Given the description of an element on the screen output the (x, y) to click on. 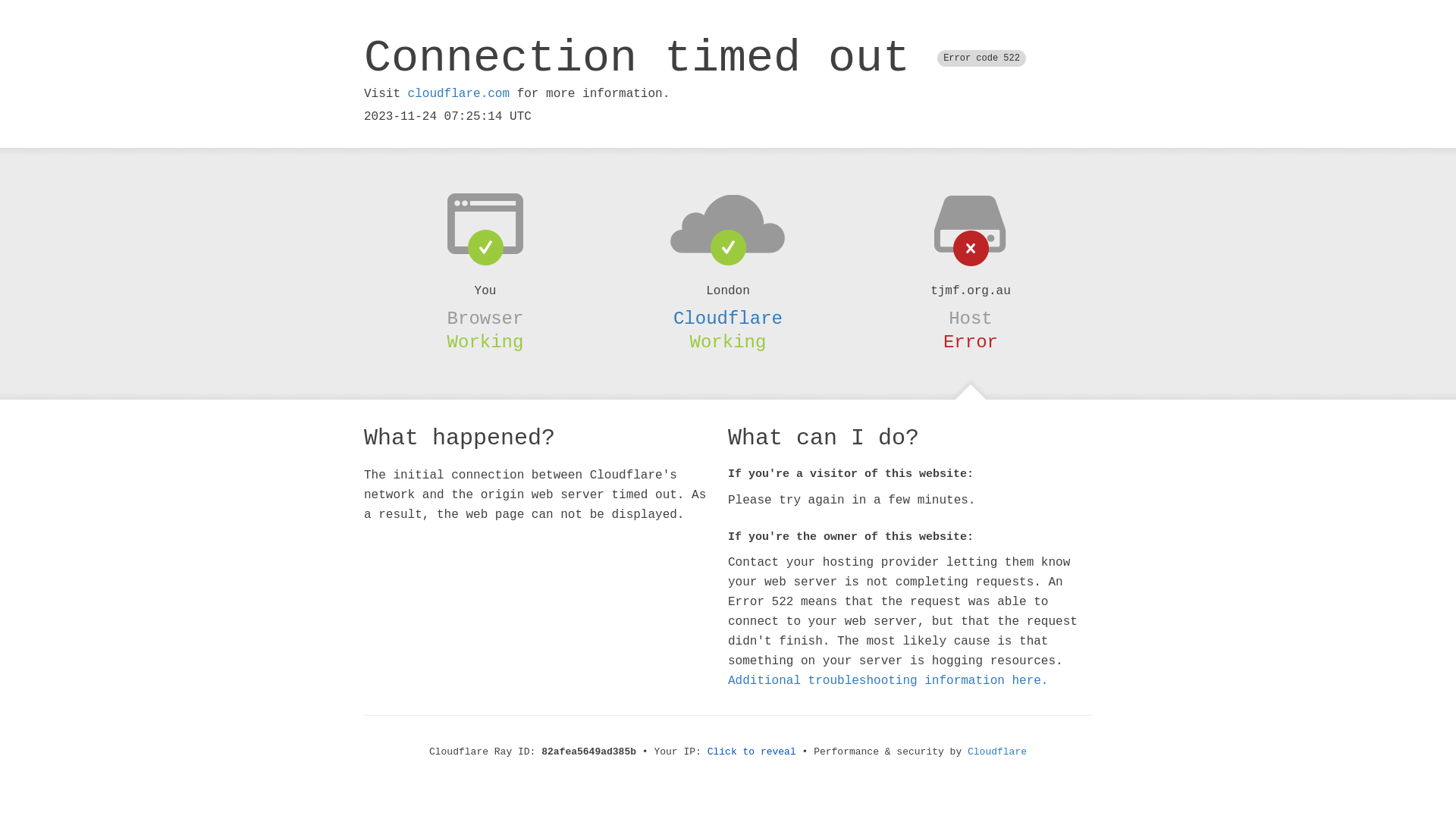
Cloudflare Element type: text (727, 318)
Additional troubleshooting information here. Element type: text (888, 680)
Click to reveal Element type: text (751, 751)
Cloudflare Element type: text (996, 751)
cloudflare.com Element type: text (458, 93)
